Given the description of an element on the screen output the (x, y) to click on. 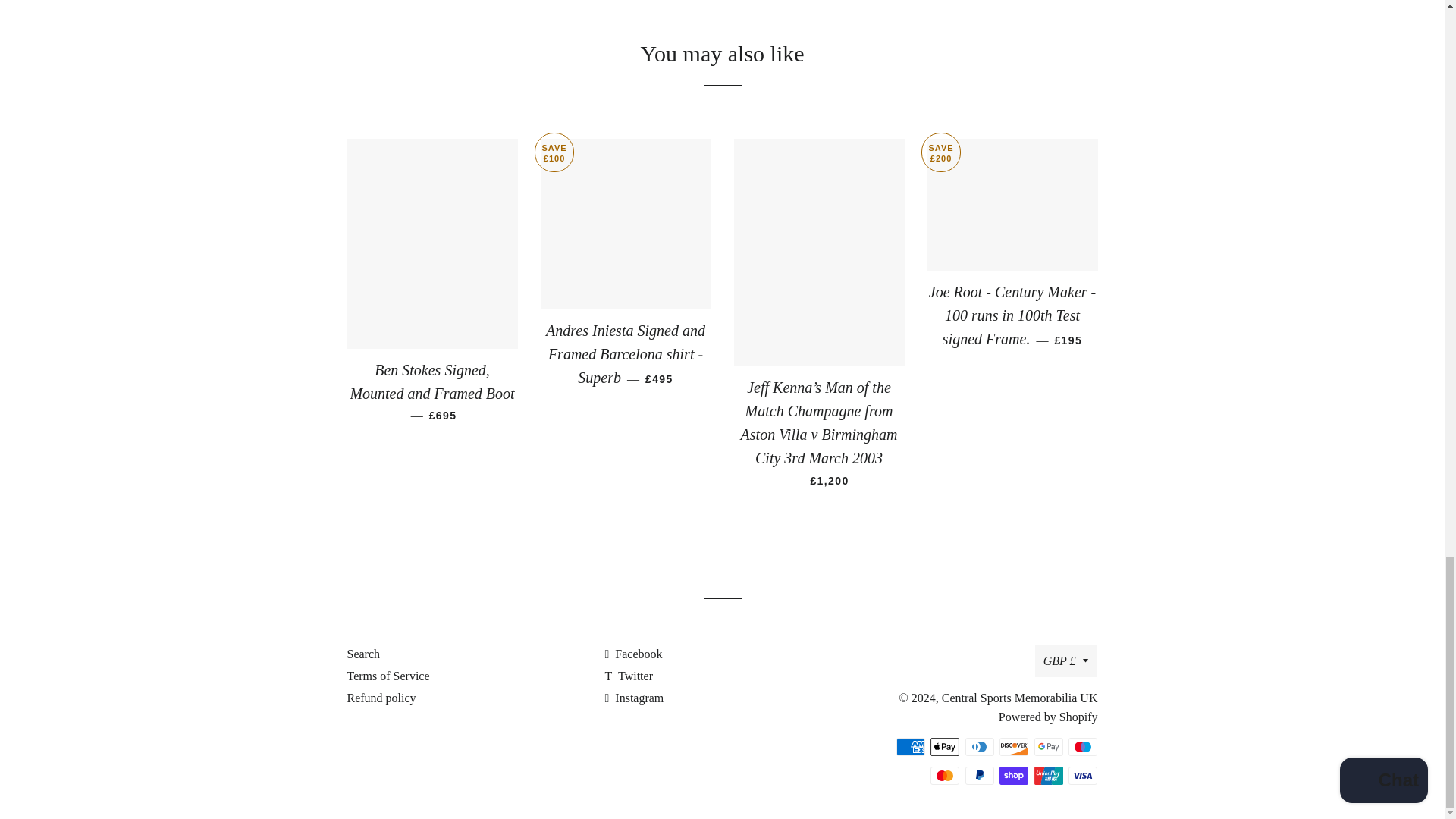
Mastercard (944, 775)
Diners Club (979, 746)
Maestro (1082, 746)
Union Pay (1047, 775)
Central Sports Memorabilia UK on Facebook (633, 653)
Shop Pay (1012, 775)
Discover (1012, 746)
Central Sports Memorabilia UK on Instagram (633, 697)
Apple Pay (944, 746)
Central Sports Memorabilia UK on Twitter (628, 675)
